Given the description of an element on the screen output the (x, y) to click on. 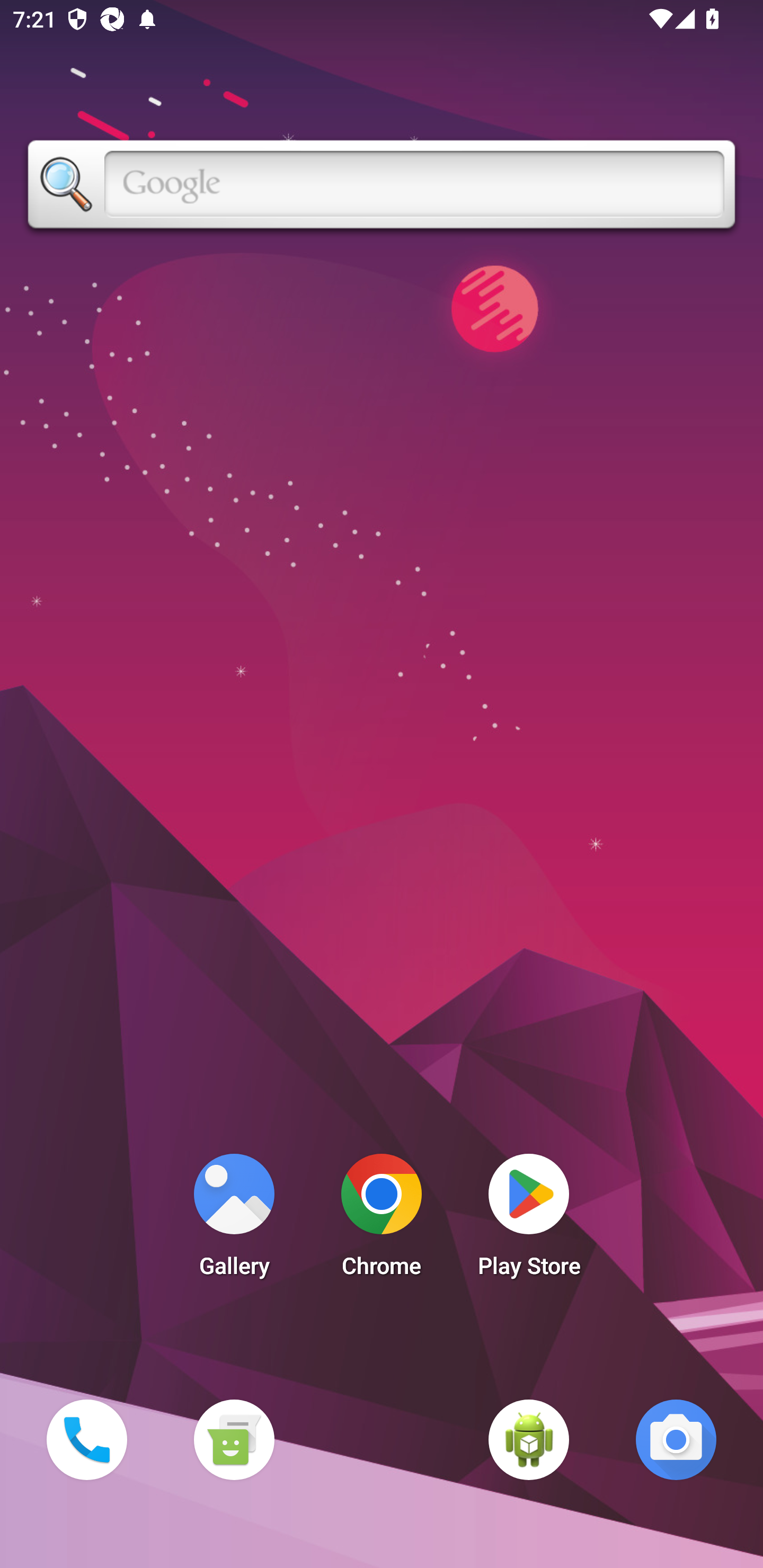
Gallery (233, 1220)
Chrome (381, 1220)
Play Store (528, 1220)
Phone (86, 1439)
Messaging (233, 1439)
WebView Browser Tester (528, 1439)
Camera (676, 1439)
